Given the description of an element on the screen output the (x, y) to click on. 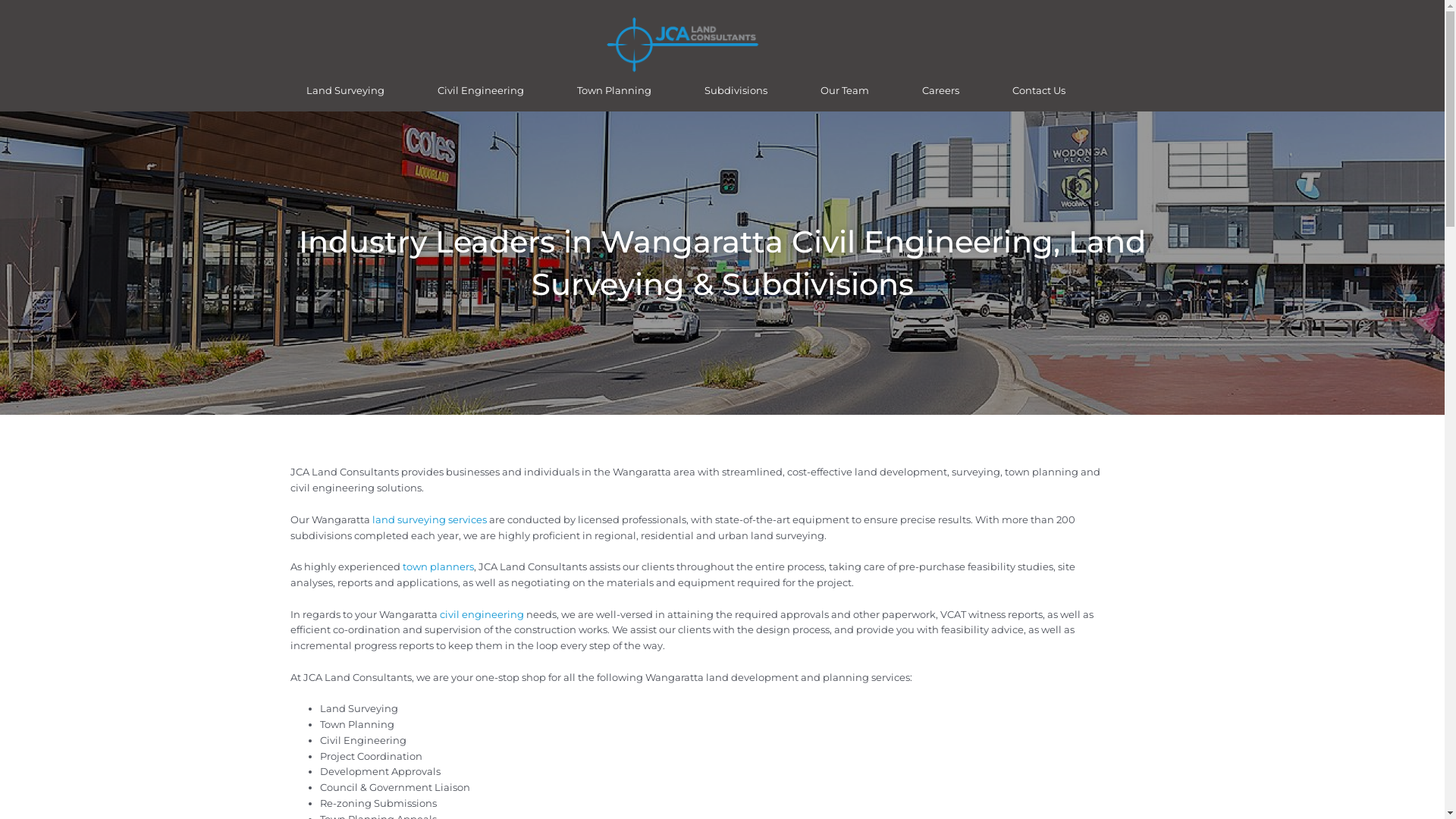
Contact Us Element type: text (1038, 89)
Subdivisions Element type: text (735, 89)
land surveying services Element type: text (428, 519)
Careers Element type: text (940, 89)
Land Surveying Element type: text (345, 89)
Civil Engineering Element type: text (480, 89)
civil engineering Element type: text (481, 614)
Our Team Element type: text (844, 89)
town planners Element type: text (437, 566)
Town Planning Element type: text (614, 89)
